Given the description of an element on the screen output the (x, y) to click on. 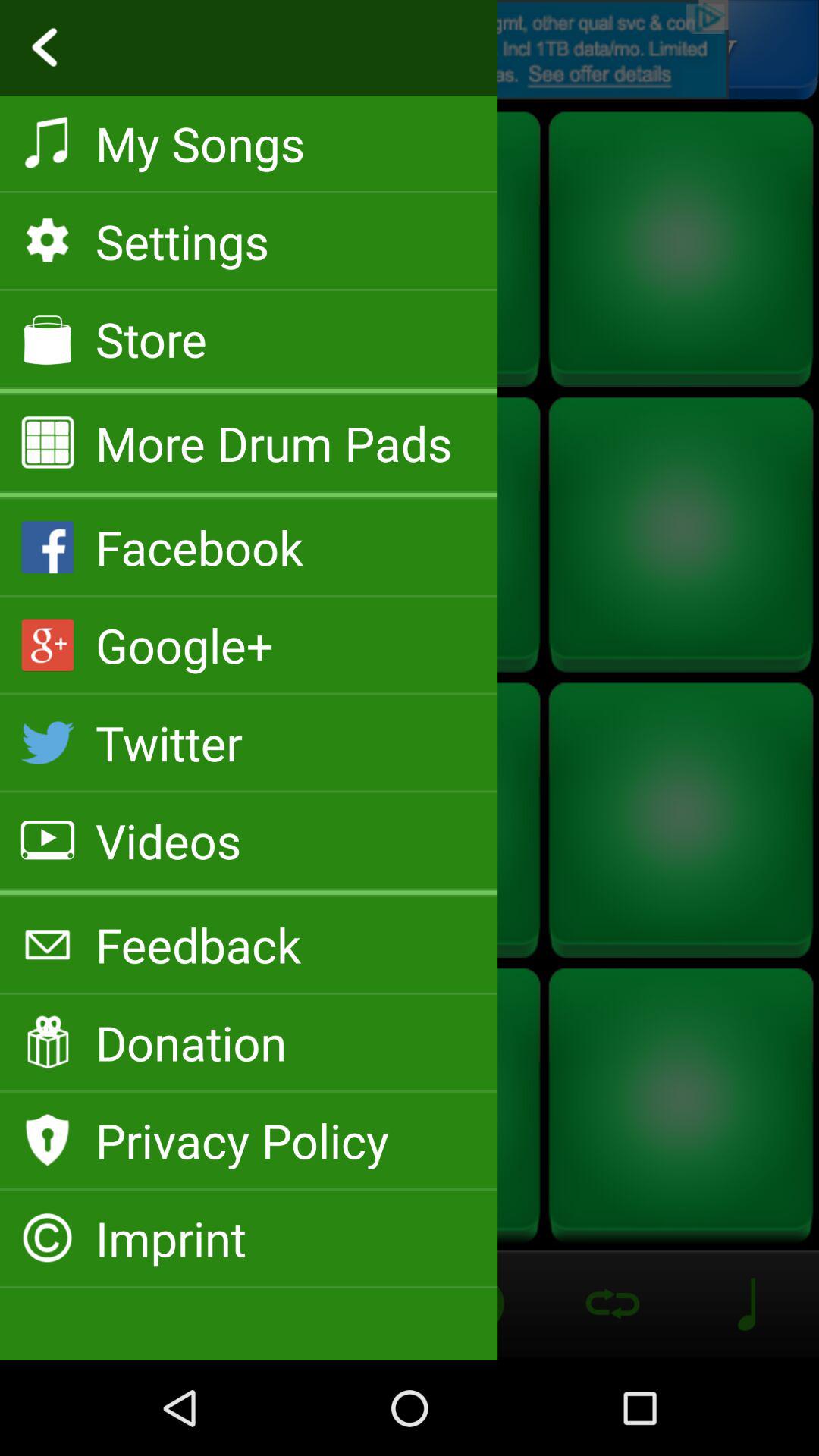
go to previous (409, 49)
